Given the description of an element on the screen output the (x, y) to click on. 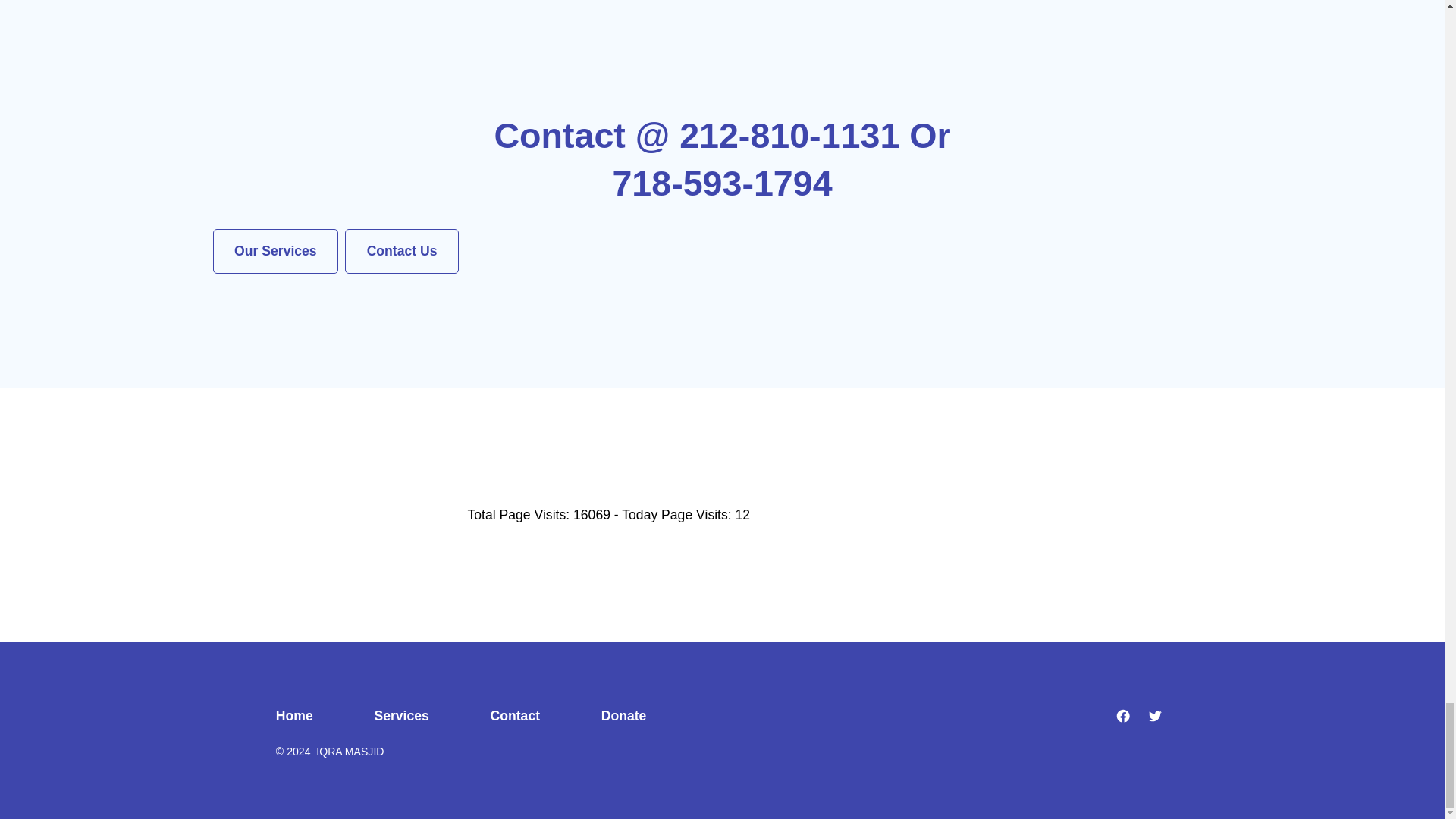
Services (401, 716)
Contact (515, 716)
Our Services (274, 251)
Home (309, 716)
Donate (623, 716)
Open Facebook in a new tab (1123, 715)
Open Twitter in a new tab (1155, 715)
Contact Us (401, 251)
